Given the description of an element on the screen output the (x, y) to click on. 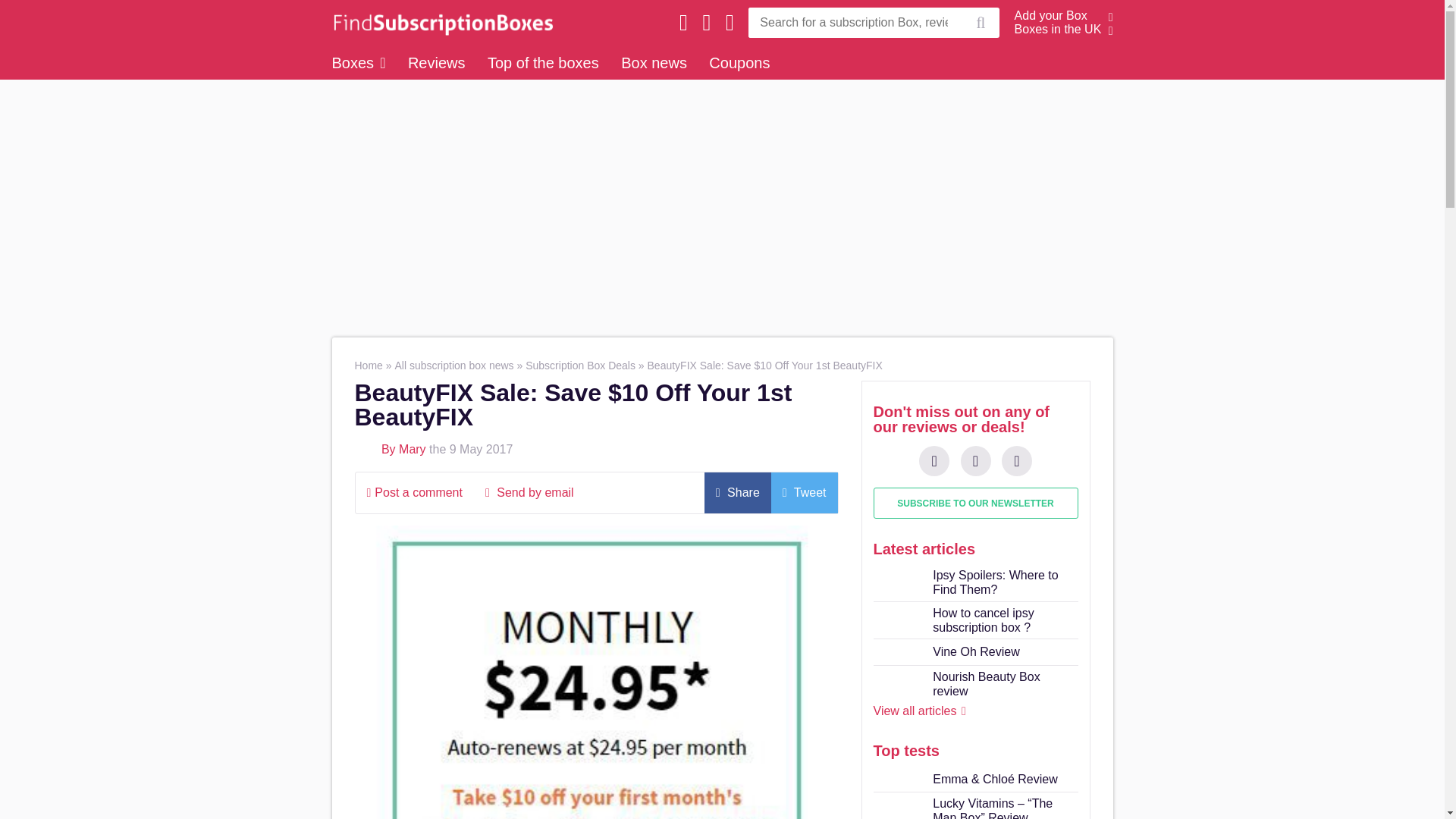
Find Subscription Boxes (437, 22)
Boxes (358, 62)
Search for: (854, 22)
Boxes in the UK (1058, 29)
Add your Box (1050, 15)
